Given the description of an element on the screen output the (x, y) to click on. 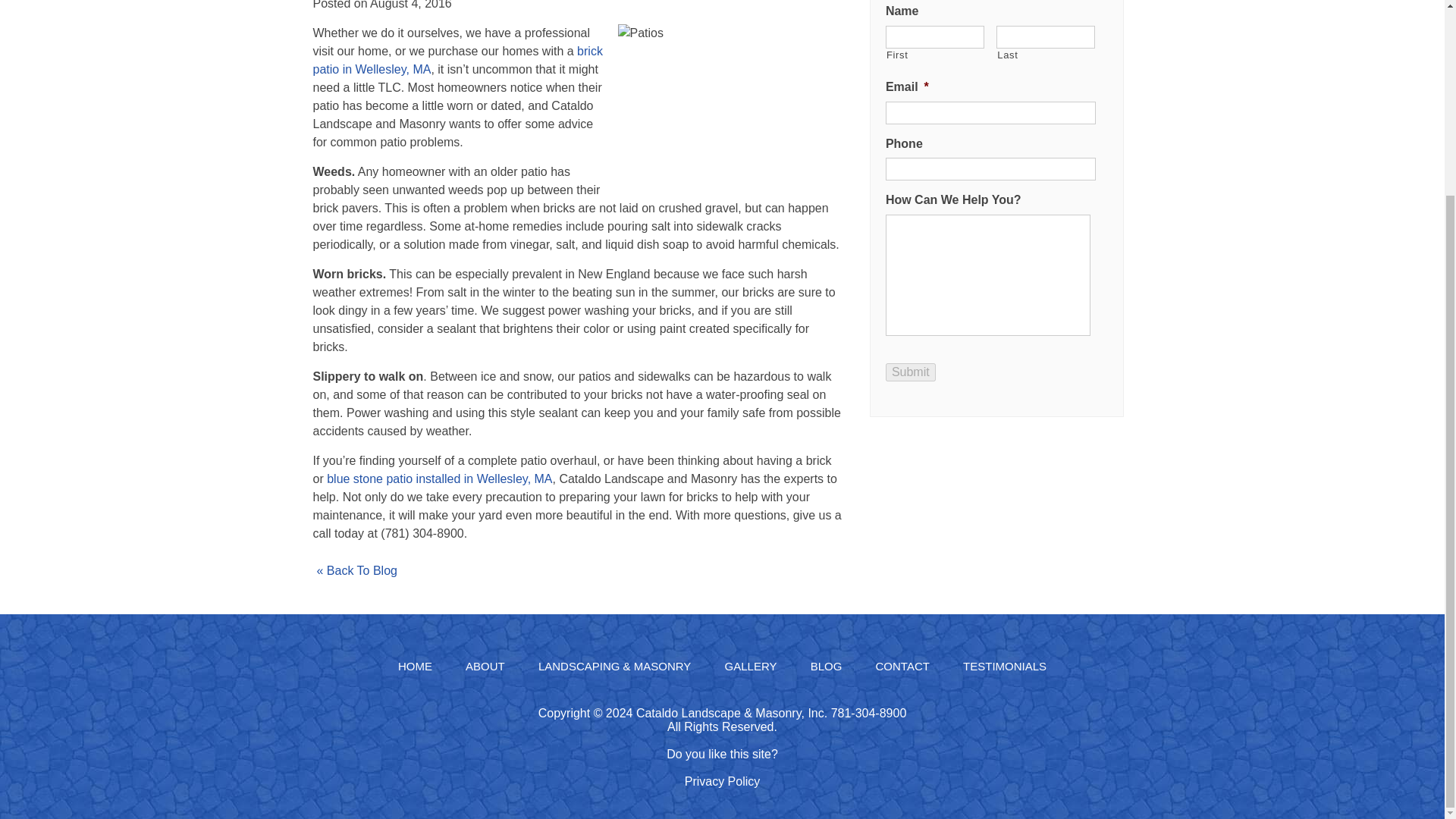
ABOUT (485, 666)
brick patio in Wellesley, MA (457, 60)
Submit (910, 372)
CONTACT (903, 666)
blue stone patio installed in Wellesley, MA (438, 478)
BLOG (826, 666)
TESTIMONIALS (1004, 666)
Privacy Policy (722, 780)
Do you like this site? (721, 753)
Submit (910, 372)
